Given the description of an element on the screen output the (x, y) to click on. 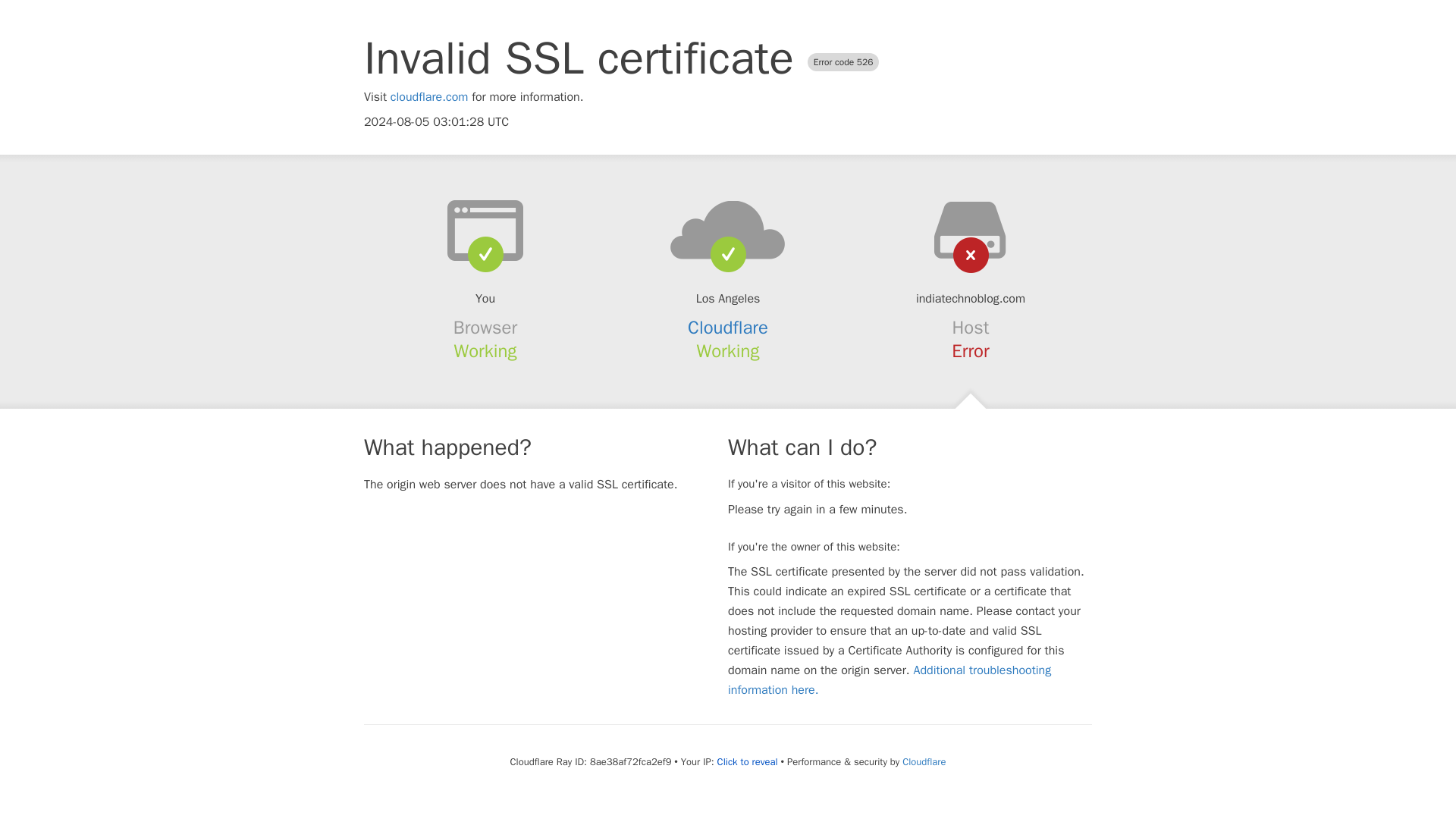
Click to reveal (747, 762)
Cloudflare (727, 327)
Additional troubleshooting information here. (889, 679)
Cloudflare (923, 761)
cloudflare.com (429, 96)
